Given the description of an element on the screen output the (x, y) to click on. 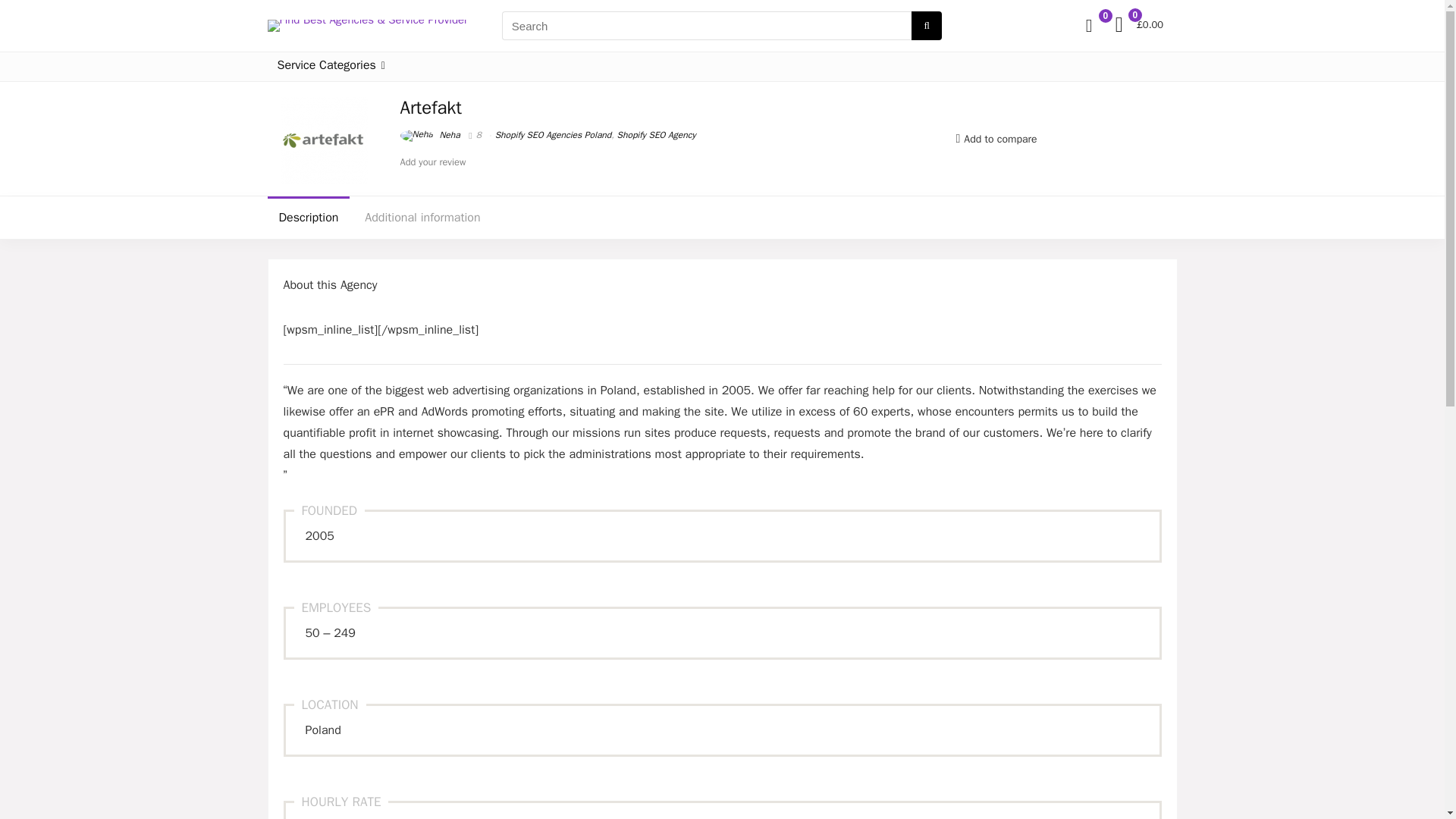
Add your review (432, 162)
Description (307, 217)
Shopify SEO Agency (656, 134)
Additional information (422, 217)
Neha (430, 134)
Description Additional information (721, 217)
Shopify SEO Agencies Poland (553, 134)
Service Categories (330, 66)
